Given the description of an element on the screen output the (x, y) to click on. 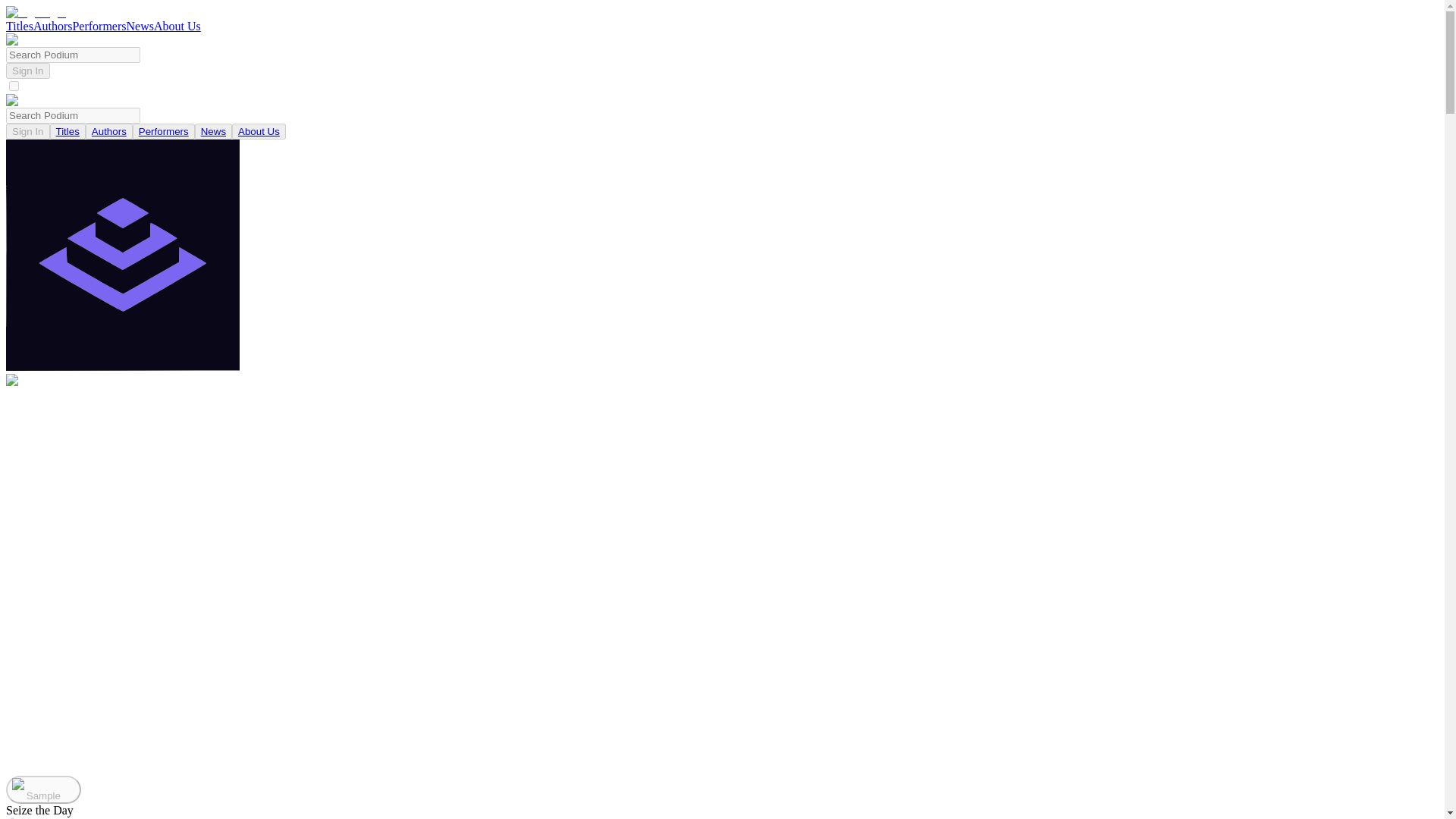
Sample (43, 789)
Performers (163, 131)
Sign In (27, 70)
Titles (19, 25)
Authors (108, 131)
on (13, 85)
About Us (258, 131)
News (213, 131)
News (212, 131)
Performers (163, 131)
Titles (68, 131)
Sign In (27, 131)
Performers (98, 25)
Titles (67, 131)
Authors (108, 131)
